Given the description of an element on the screen output the (x, y) to click on. 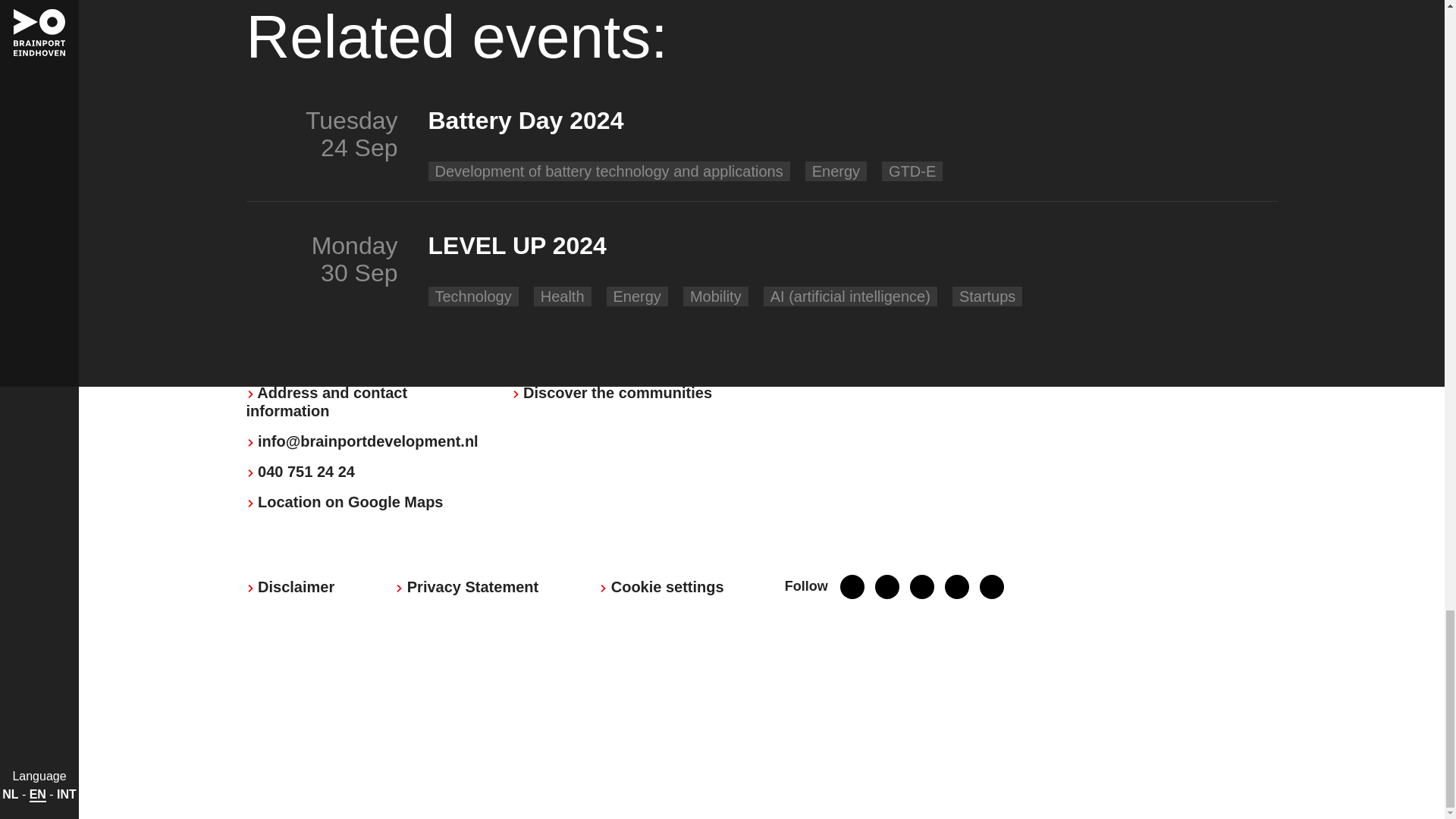
Energy (636, 296)
Energy (836, 170)
Mobility (715, 296)
Battery Day 2024 (837, 126)
Health (562, 296)
LEVEL UP 2024 (837, 251)
GTD-E (912, 170)
Development of battery technology and applications (609, 170)
Startups (986, 296)
Technology (473, 296)
